Given the description of an element on the screen output the (x, y) to click on. 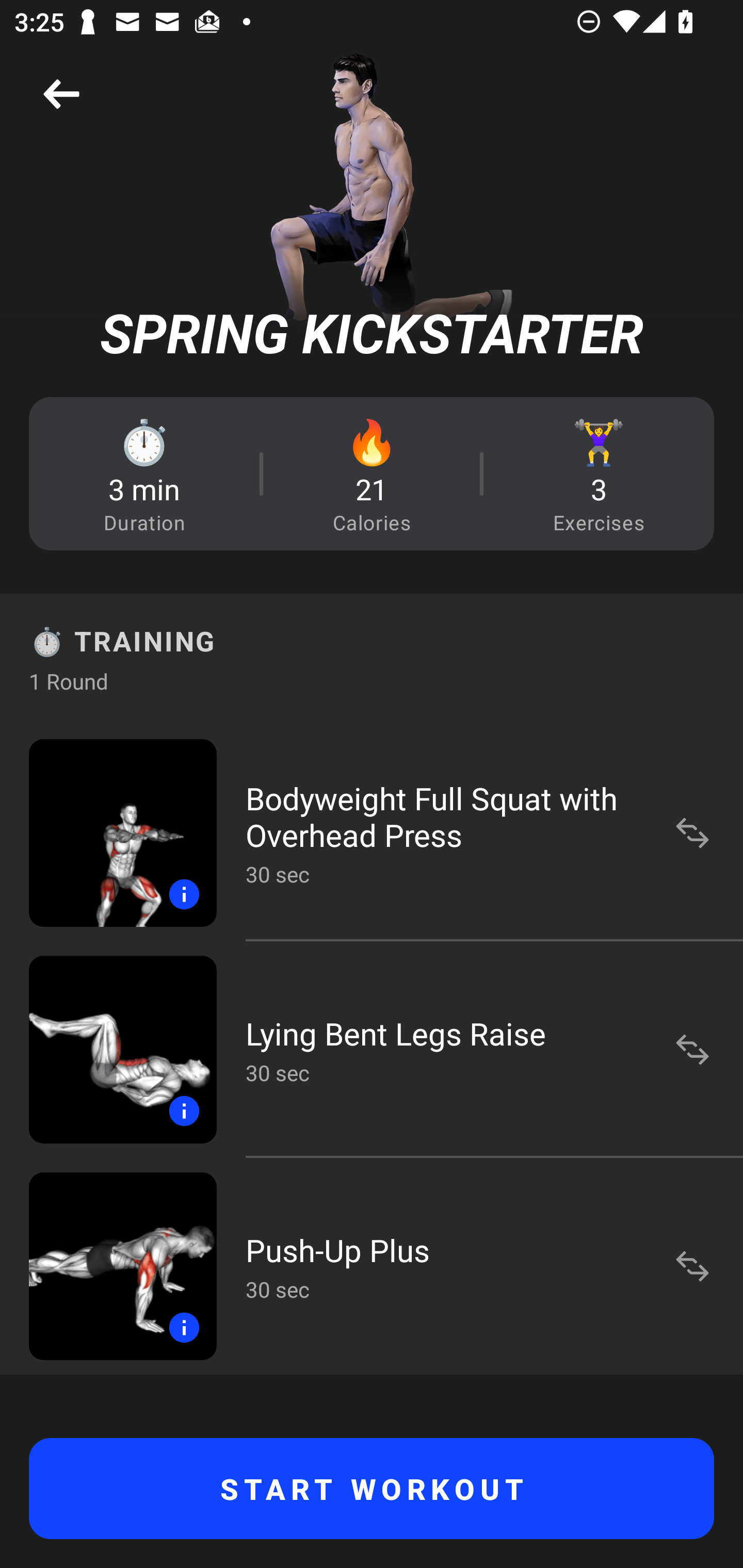
Bodyweight Full Squat with Overhead Press 30 sec (371, 832)
Lying Bent Legs Raise 30 sec (371, 1048)
Push-Up Plus 30 sec (371, 1266)
START WORKOUT (371, 1488)
